Given the description of an element on the screen output the (x, y) to click on. 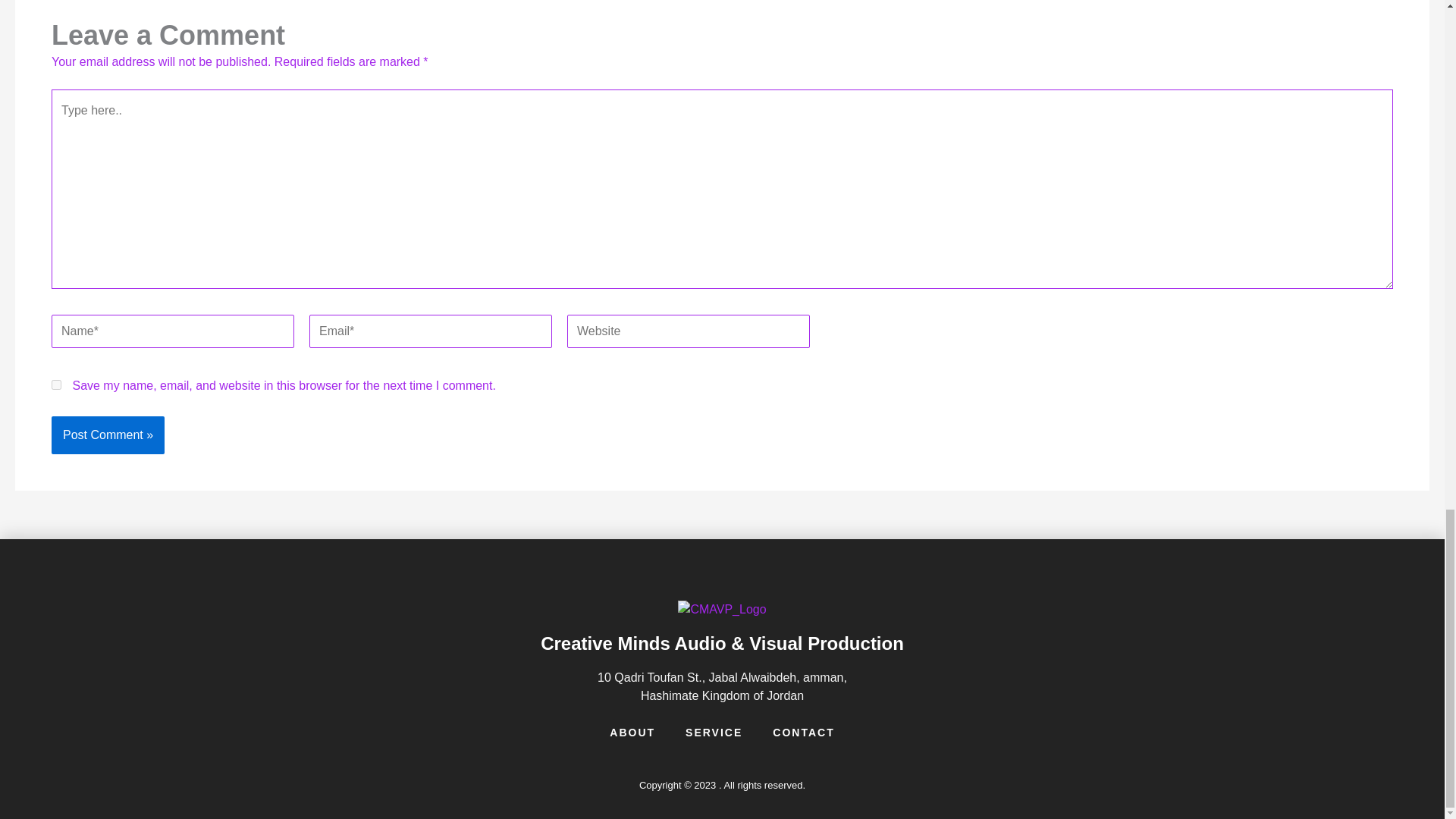
SERVICE (713, 732)
ABOUT (632, 732)
yes (55, 384)
CONTACT (803, 732)
